Given the description of an element on the screen output the (x, y) to click on. 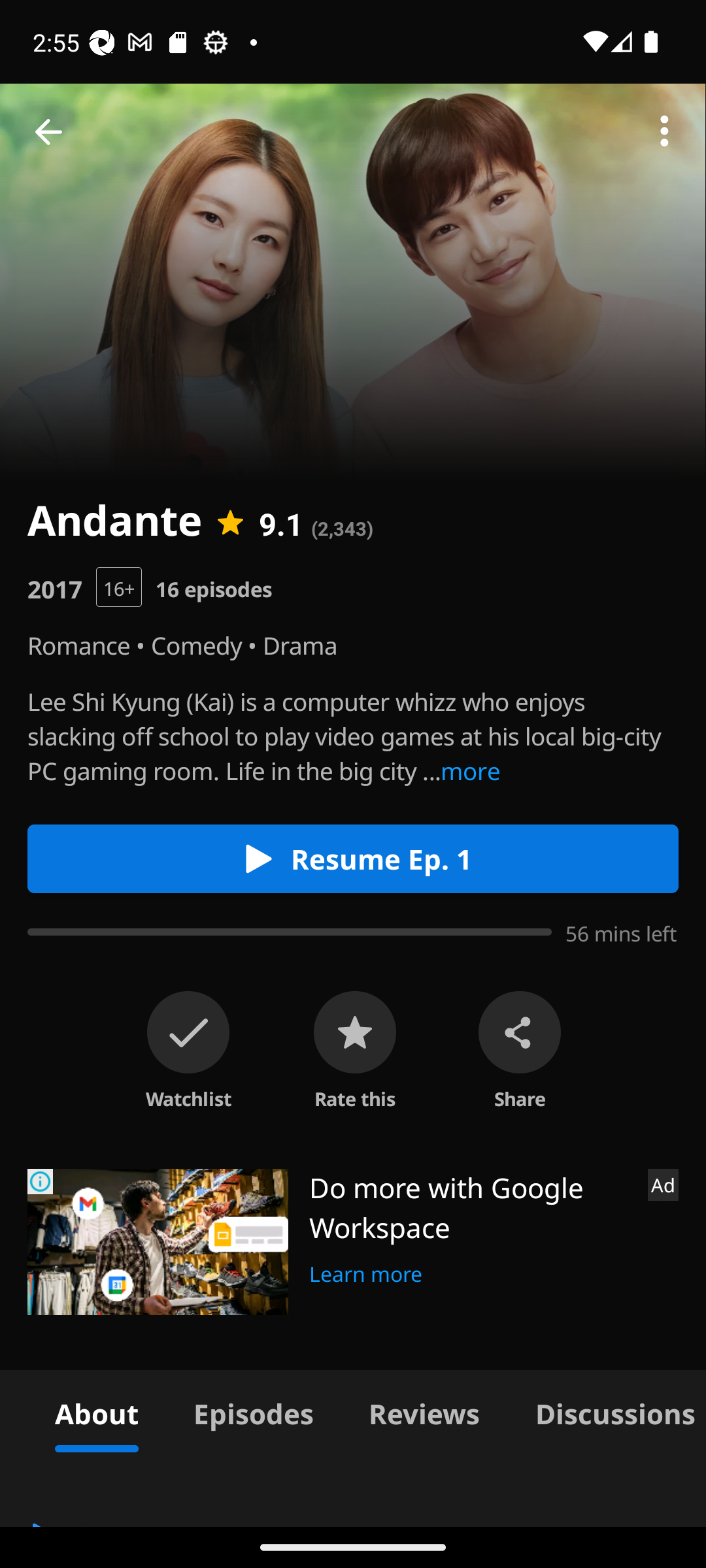
More (664, 131)
on (187, 1032)
Ad Choices Icon (39, 1181)
Do more with Google Workspace (471, 1207)
Learn more (365, 1271)
Episodes (252, 1410)
Reviews (423, 1410)
Discussions (606, 1410)
